Given the description of an element on the screen output the (x, y) to click on. 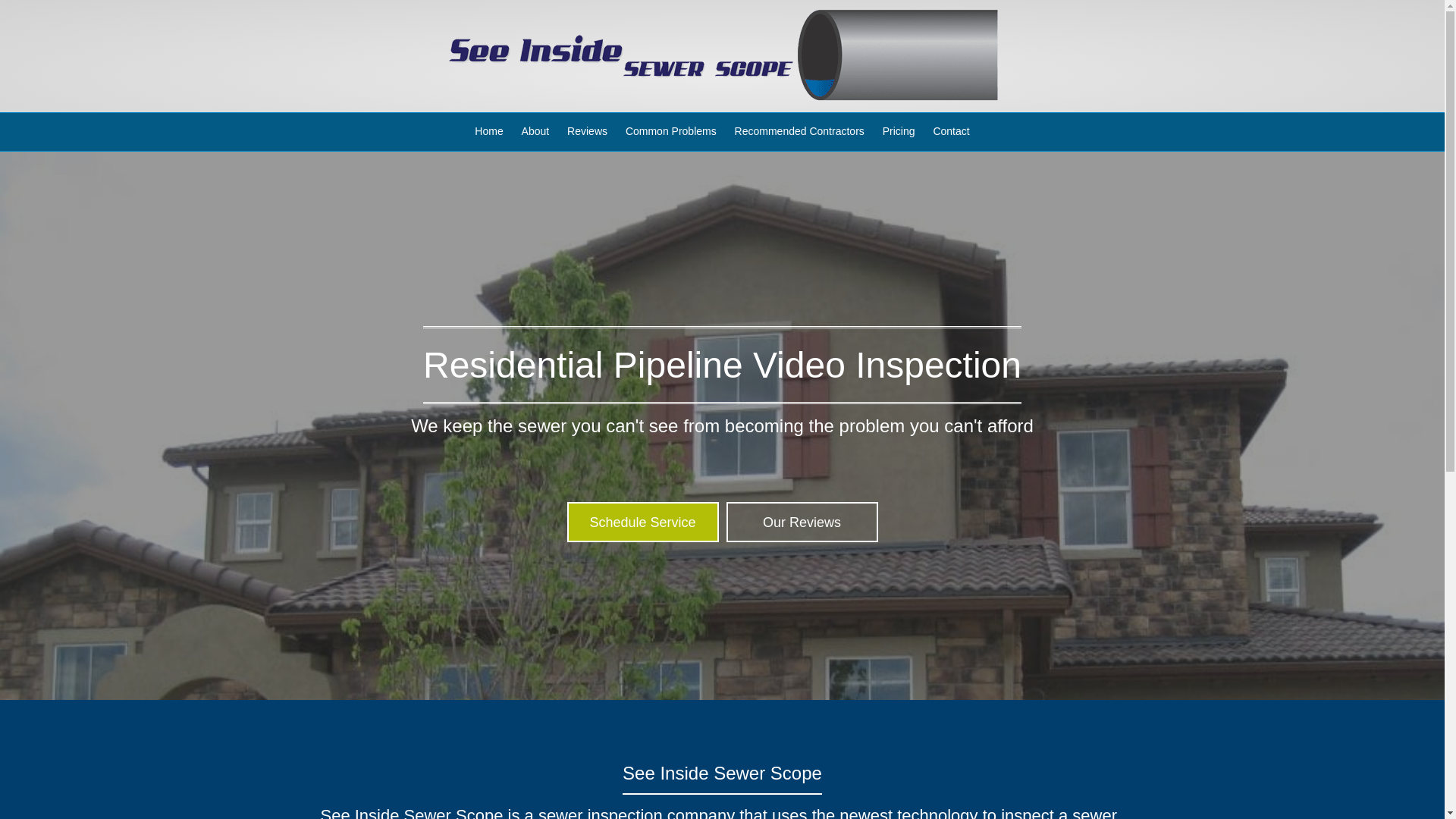
Reviews (586, 131)
Contact (950, 131)
Pricing (899, 131)
Schedule Service (643, 522)
Our Reviews (801, 522)
Home (489, 131)
About (535, 131)
Common Problems (670, 131)
Recommended Contractors (799, 131)
